Given the description of an element on the screen output the (x, y) to click on. 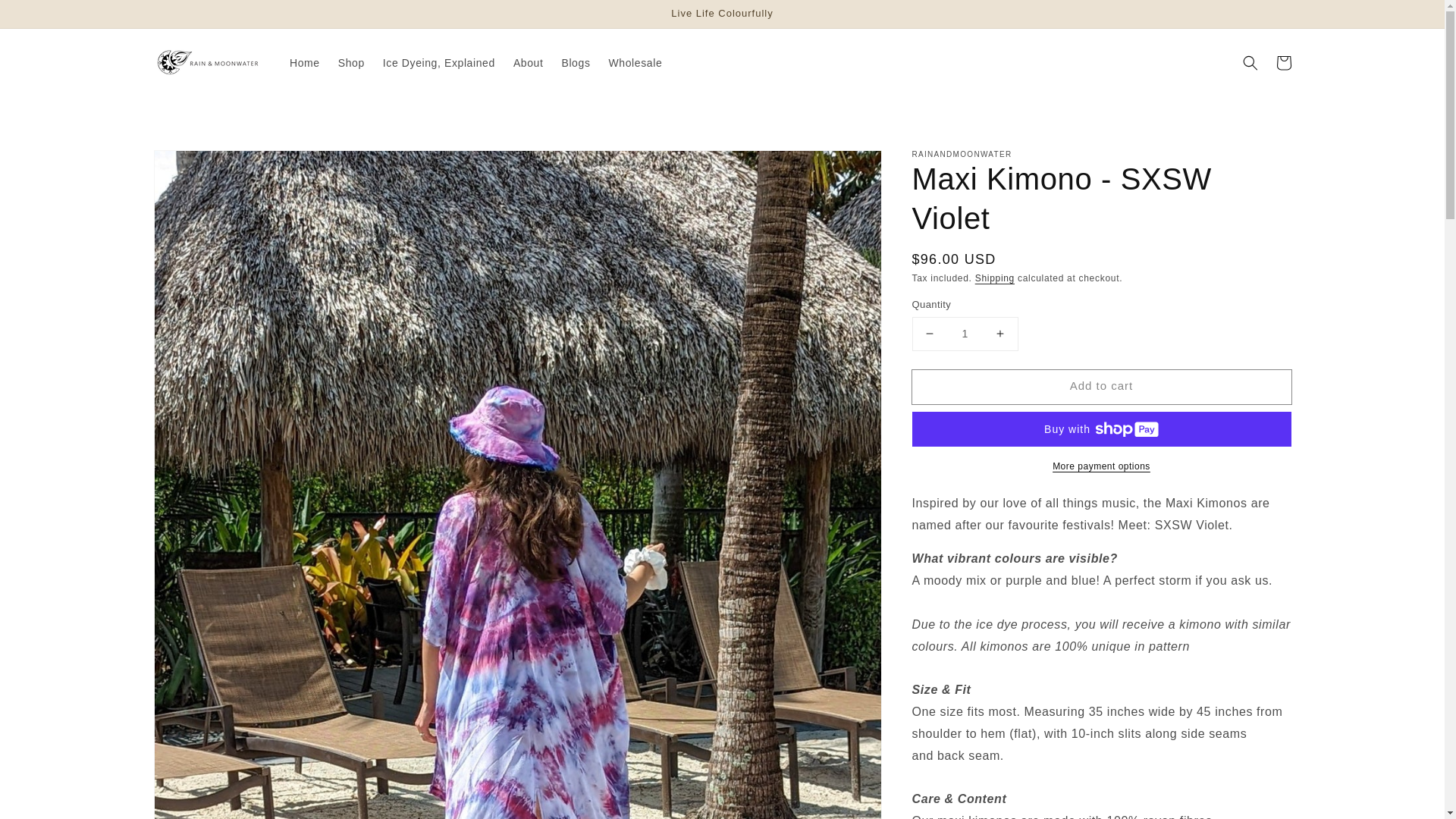
Ice Dyeing, Explained (438, 62)
Decrease quantity for Maxi Kimono - SXSW Violet (929, 333)
Add to cart (1100, 387)
Skip to content (45, 16)
Home (305, 62)
About (528, 62)
Increase quantity for Maxi Kimono - SXSW Violet (999, 333)
Blogs (574, 62)
Shop (351, 62)
Skip to product information (198, 166)
1 (964, 333)
Wholesale (634, 62)
Cart (1283, 62)
More payment options (1100, 466)
